Given the description of an element on the screen output the (x, y) to click on. 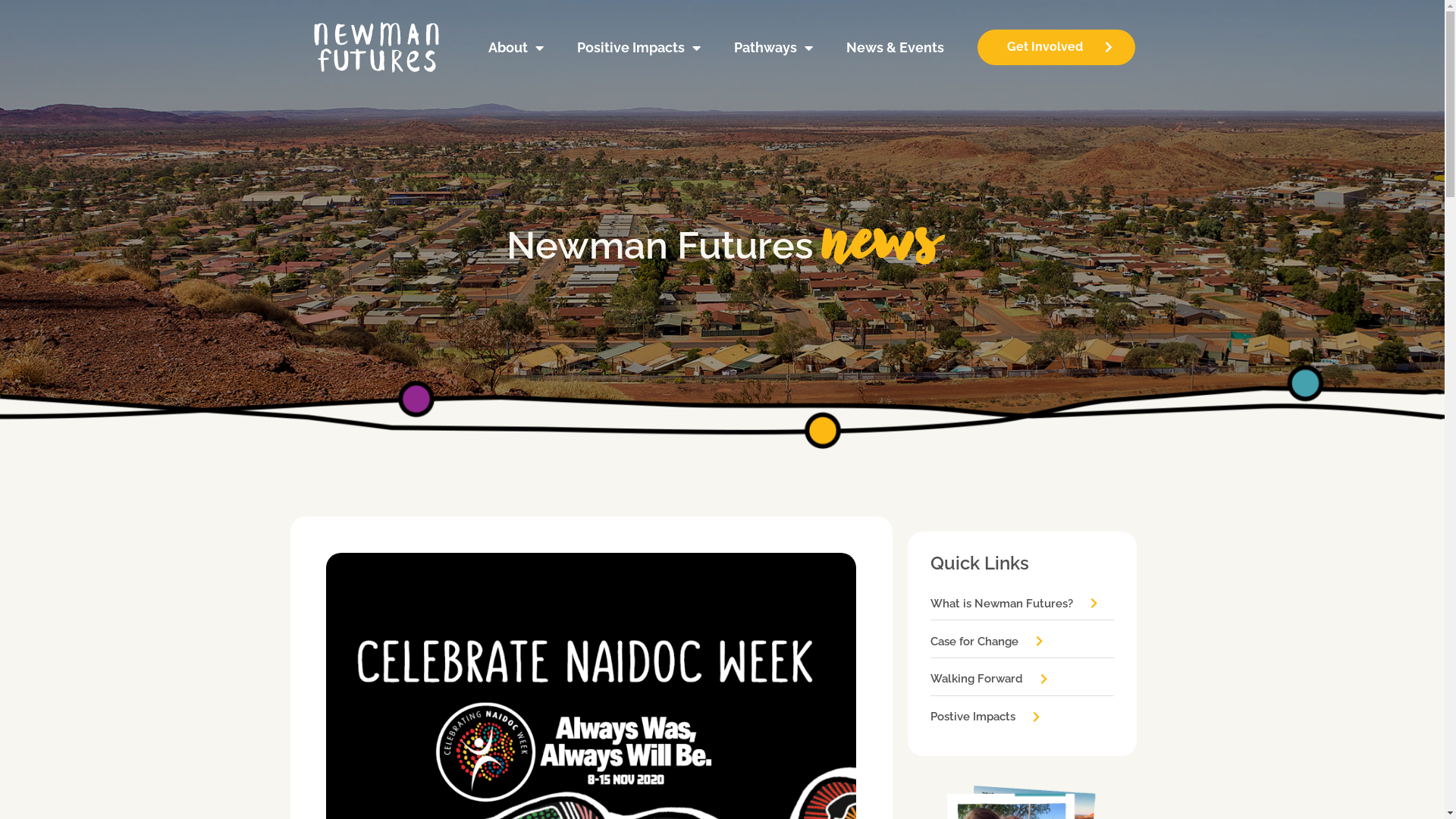
Walking Forward Element type: text (989, 678)
Case for Change Element type: text (987, 641)
About Element type: text (515, 47)
What is Newman Futures? Element type: text (1014, 603)
Positive Impacts Element type: text (638, 47)
Get Involved Element type: text (1056, 47)
Pathways Element type: text (773, 47)
News & Events Element type: text (895, 47)
Postive Impacts Element type: text (985, 716)
